Given the description of an element on the screen output the (x, y) to click on. 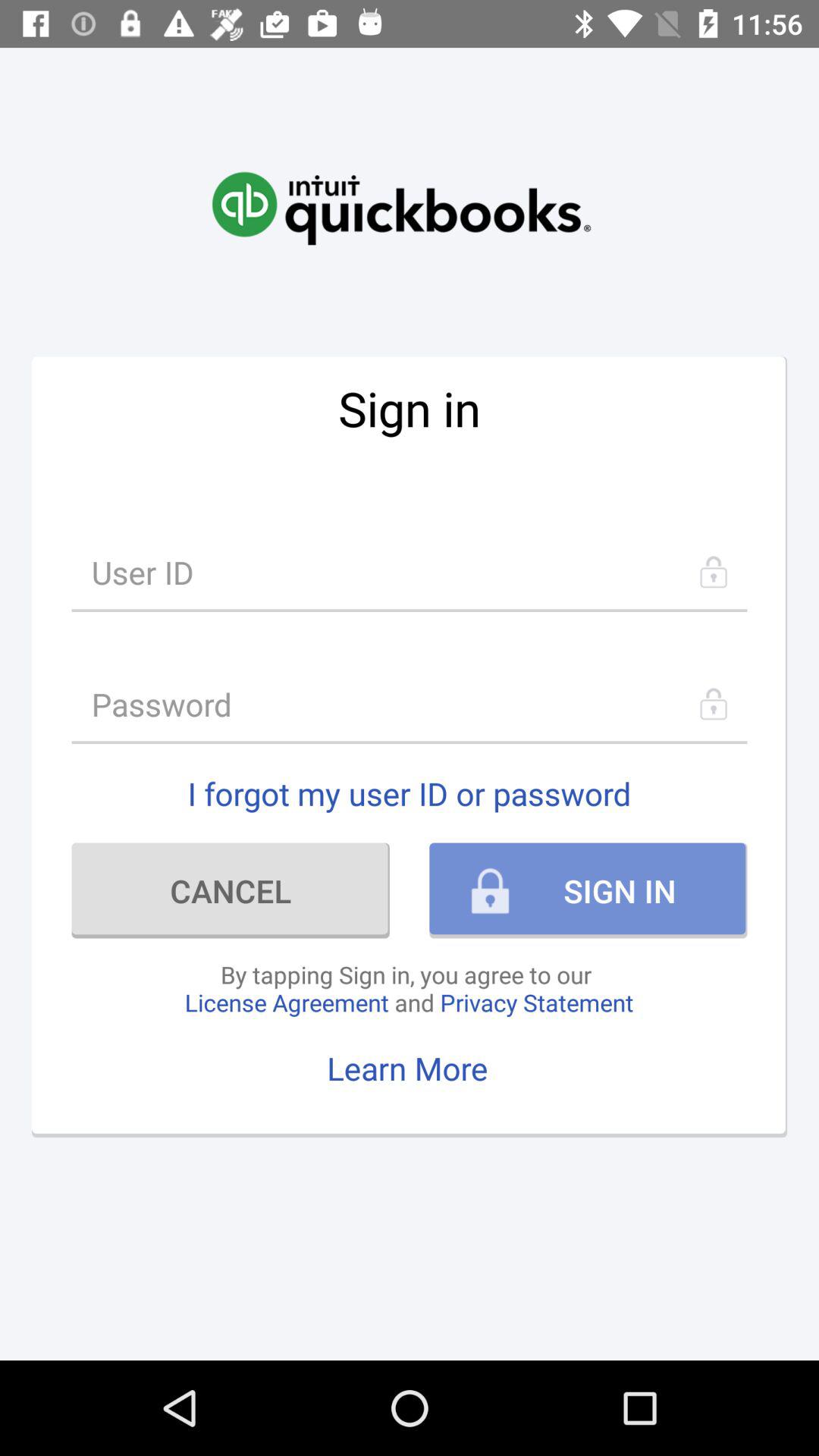
select item above i forgot my (409, 703)
